Given the description of an element on the screen output the (x, y) to click on. 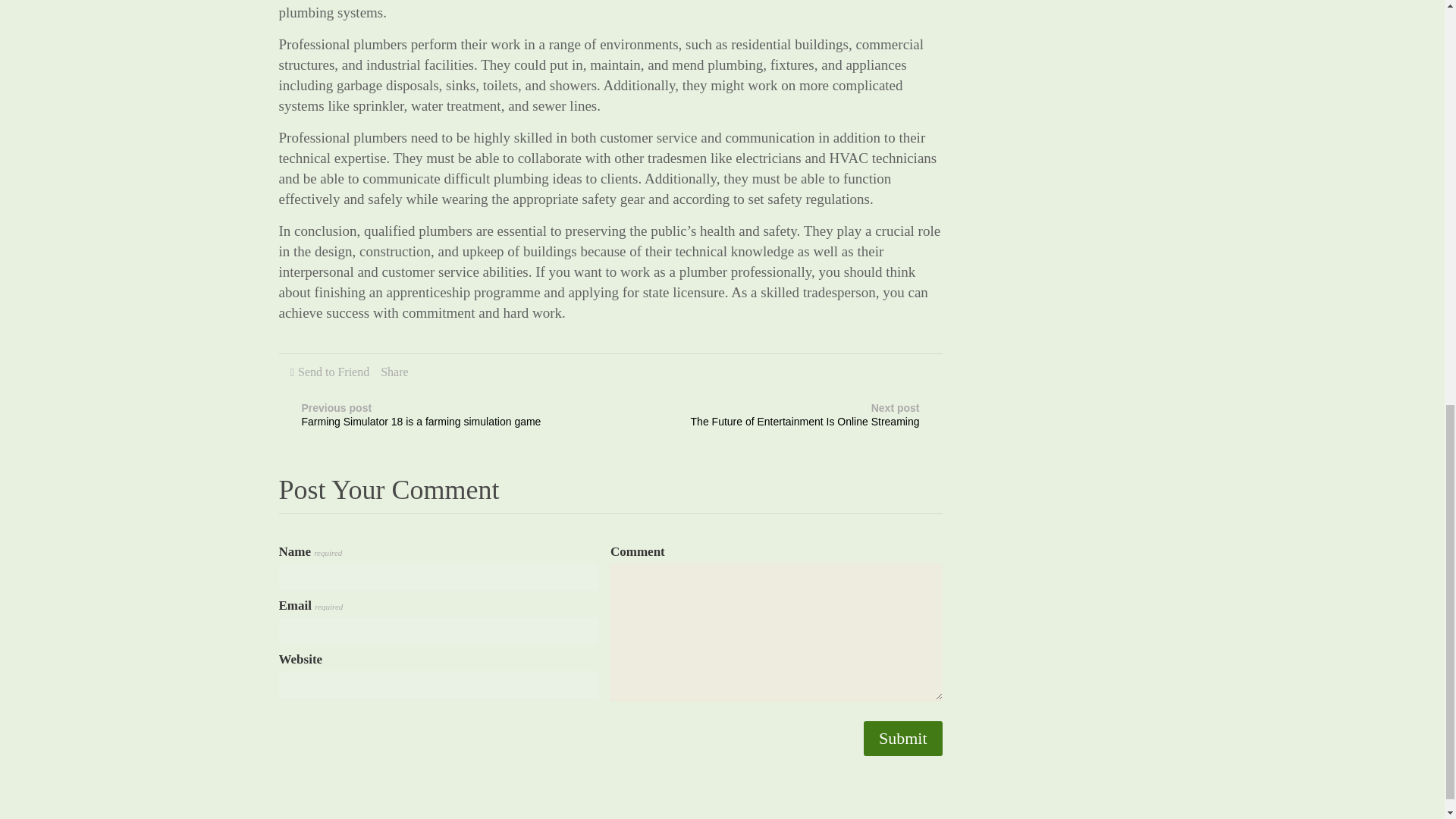
Submit (902, 738)
Submit (797, 417)
Send to Friend (902, 738)
Share (333, 371)
